Given the description of an element on the screen output the (x, y) to click on. 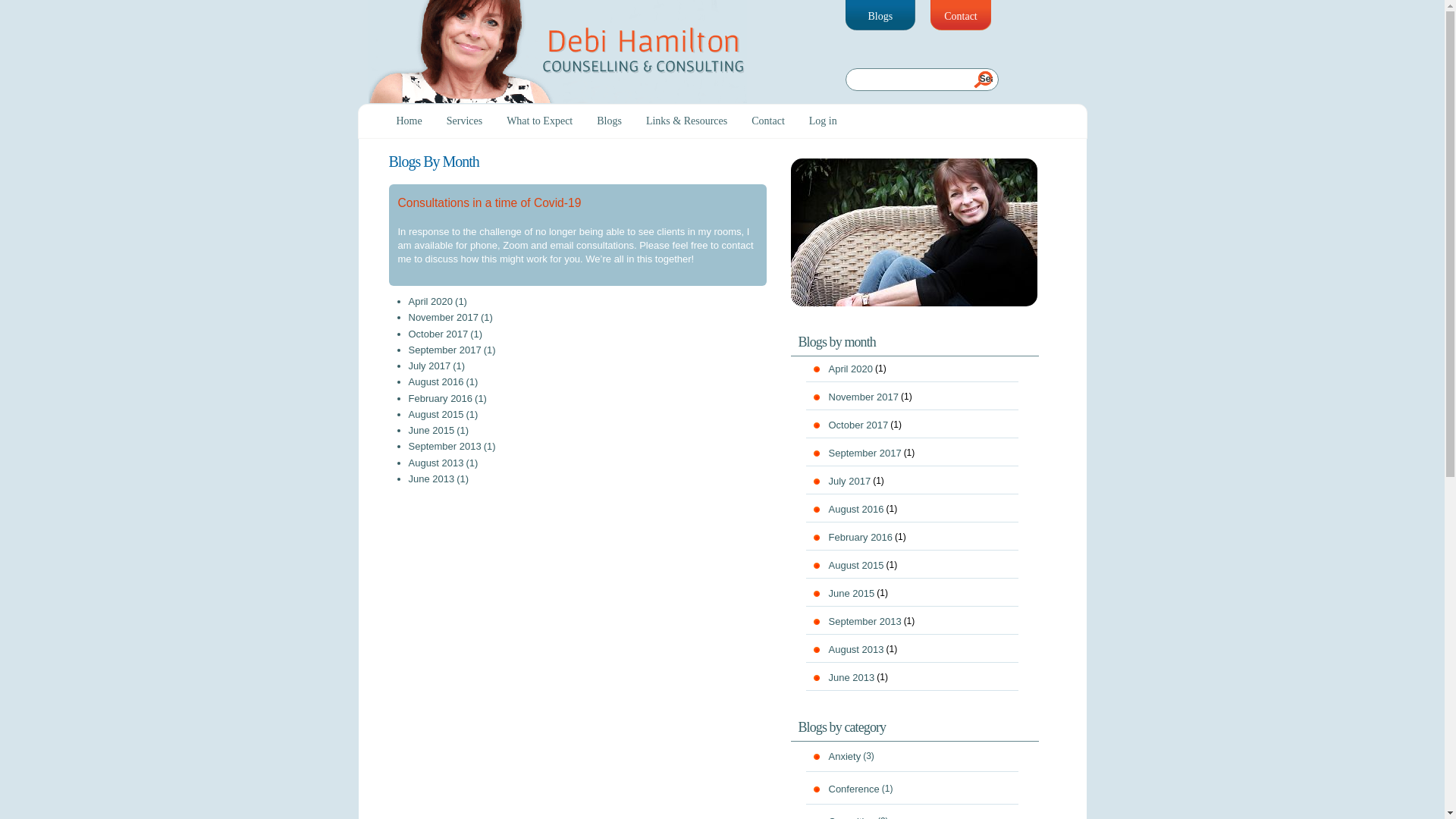
April 2020 Element type: text (851, 368)
June 2015 Element type: text (852, 593)
August 2015 Element type: text (436, 414)
Anxiety Element type: text (845, 756)
October 2017 Element type: text (438, 334)
Contact Element type: text (768, 121)
September 2017 Element type: text (865, 453)
July 2017 Element type: text (850, 481)
July 2017 Element type: text (429, 366)
June 2013 Element type: text (852, 677)
April 2020 Element type: text (431, 301)
Enter the terms you wish to search for. Element type: hover (920, 79)
September 2013 Element type: text (445, 446)
Links & Resources Element type: text (686, 121)
Log in Element type: text (823, 121)
February 2016 Element type: text (440, 397)
October 2017 Element type: text (859, 424)
November 2017 Element type: text (443, 317)
Conference Element type: text (854, 788)
February 2016 Element type: text (861, 537)
Blogs Element type: text (879, 15)
June 2015 Element type: text (431, 430)
August 2016 Element type: text (856, 509)
Contact Element type: text (960, 15)
Blogs Element type: text (608, 121)
September 2013 Element type: text (865, 621)
August 2015 Element type: text (856, 565)
August 2013 Element type: text (436, 463)
What to Expect Element type: text (539, 121)
August 2013 Element type: text (856, 649)
June 2013 Element type: text (431, 479)
Skip to main content Element type: text (698, 1)
November 2017 Element type: text (864, 396)
August 2016 Element type: text (436, 382)
Home Element type: text (408, 121)
September 2017 Element type: text (445, 350)
Services Element type: text (464, 121)
Search Element type: text (982, 78)
Psychology musings Element type: hover (913, 232)
